Given the description of an element on the screen output the (x, y) to click on. 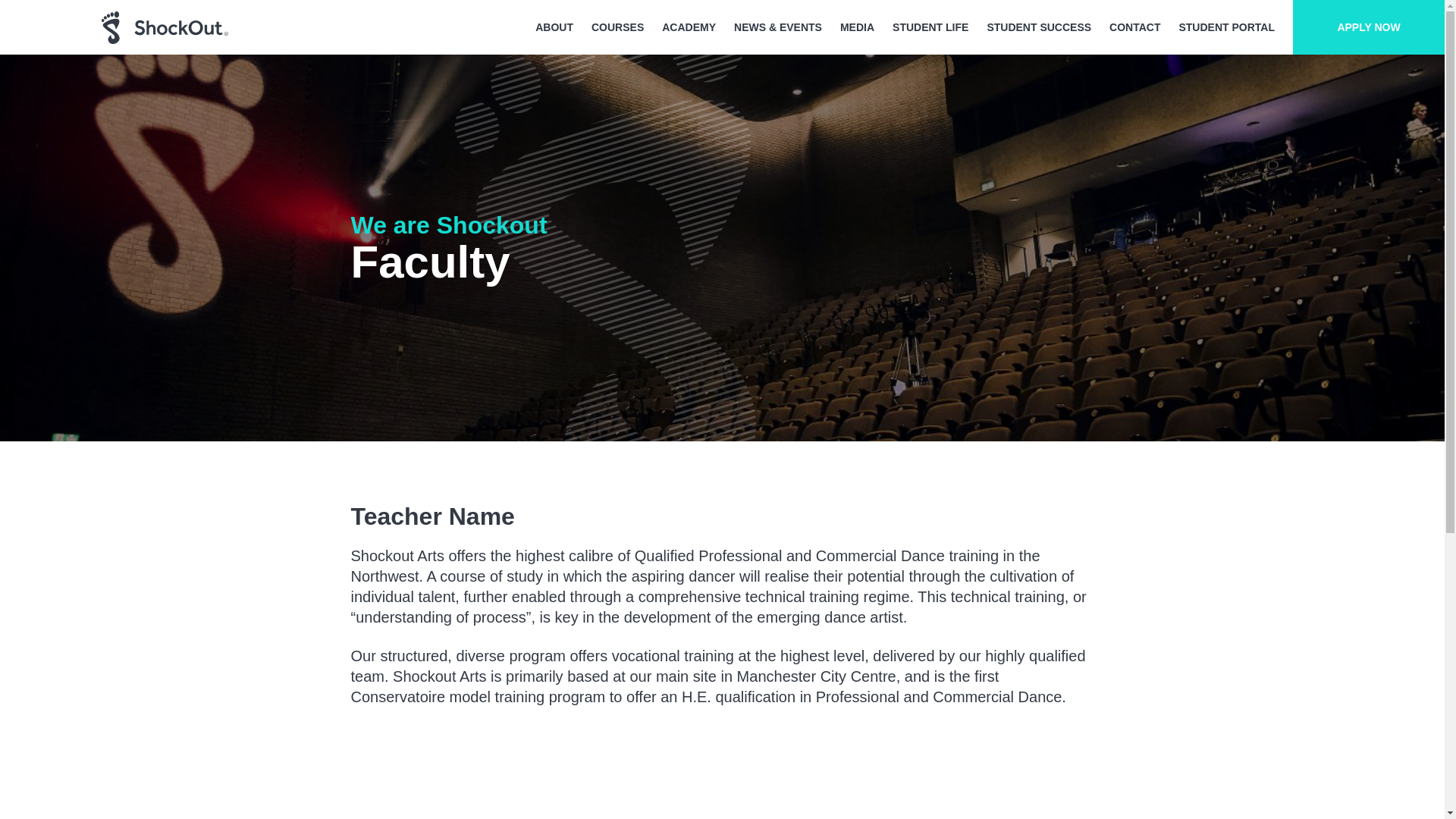
STUDENT SUCCESS (1038, 27)
MEDIA (857, 27)
STUDENT PORTAL (1226, 27)
ACADEMY (688, 27)
CONTACT (1134, 27)
STUDENT LIFE (929, 27)
COURSES (617, 27)
ABOUT (553, 27)
